Given the description of an element on the screen output the (x, y) to click on. 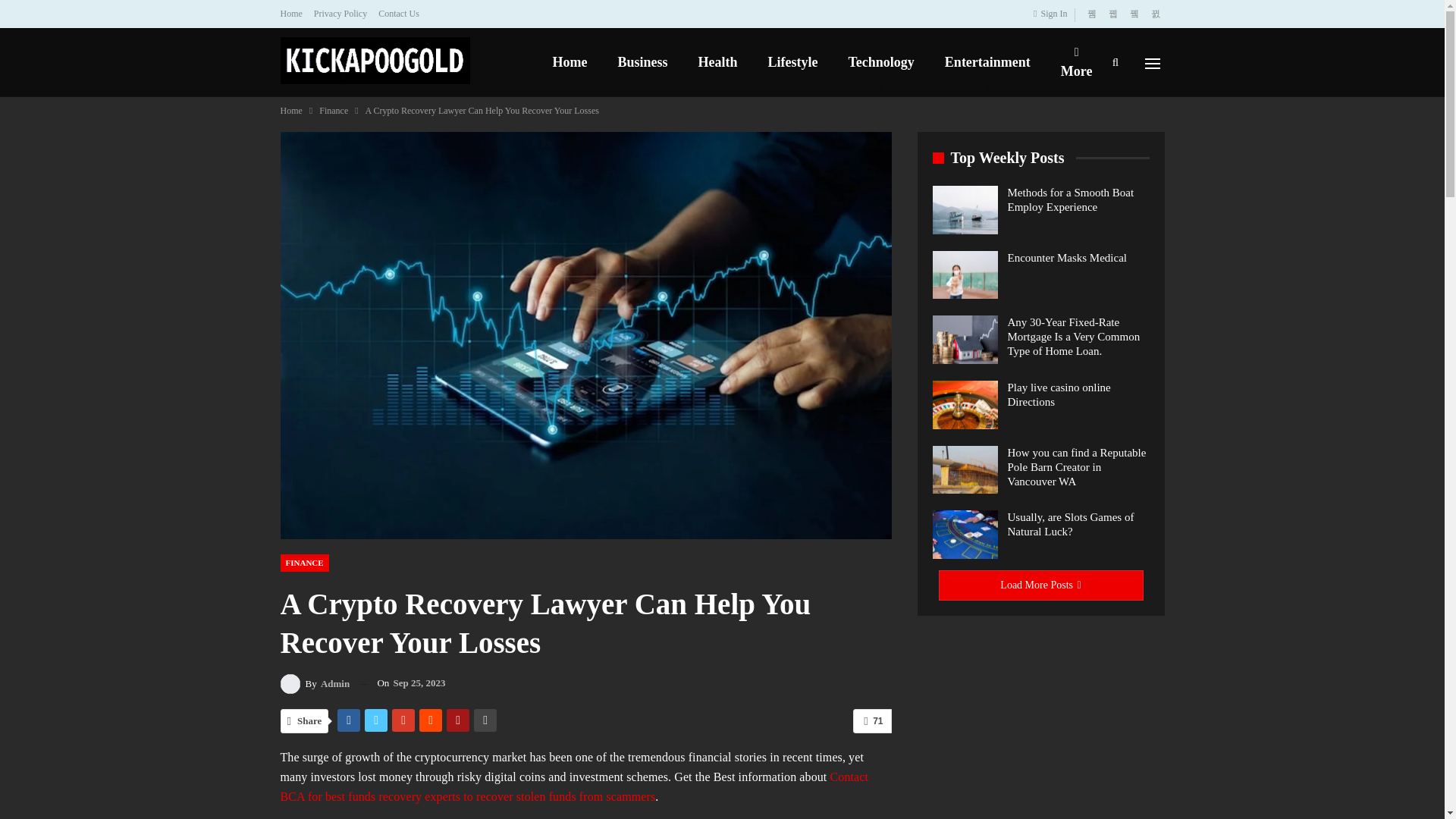
Sign In (1053, 13)
Browse Author Articles (315, 683)
Methods for a Smooth Boat Employ Experience (965, 209)
Encounter Masks Medical (965, 274)
